Given the description of an element on the screen output the (x, y) to click on. 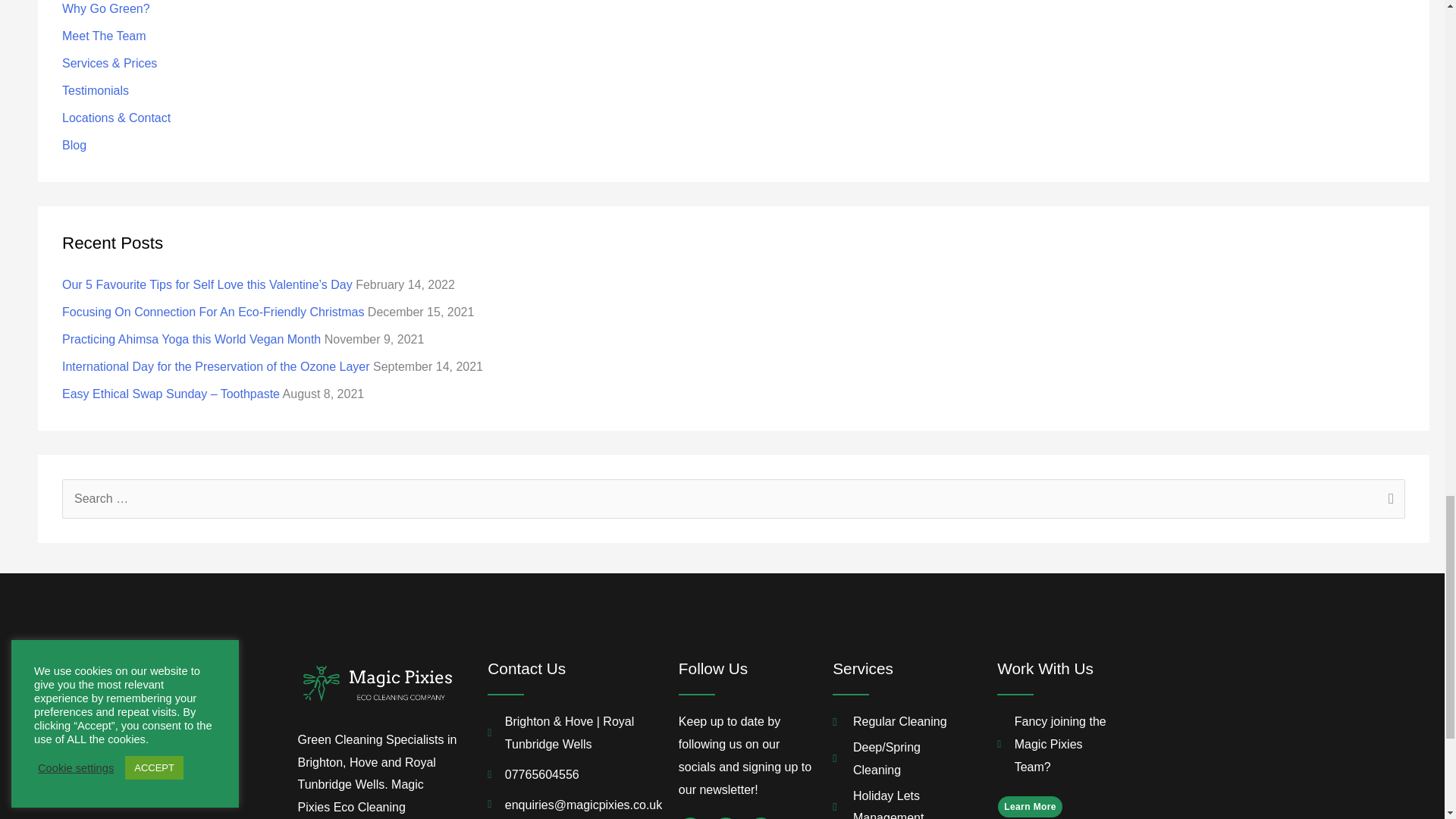
International Day for the Preservation of the Ozone Layer (215, 366)
Fancy joining the Magic Pixies Team? (1052, 744)
Search (1388, 500)
Holiday Lets Management (901, 801)
Why Go Green? (105, 8)
Focusing On Connection For An Eco-Friendly Christmas (213, 311)
07765604556 (566, 774)
Regular Cleaning (901, 721)
Meet The Team (104, 35)
Practicing Ahimsa Yoga this World Vegan Month (191, 338)
Learn More (1029, 806)
Blog (73, 144)
Search (1388, 500)
Search (1388, 500)
Testimonials (95, 90)
